Given the description of an element on the screen output the (x, y) to click on. 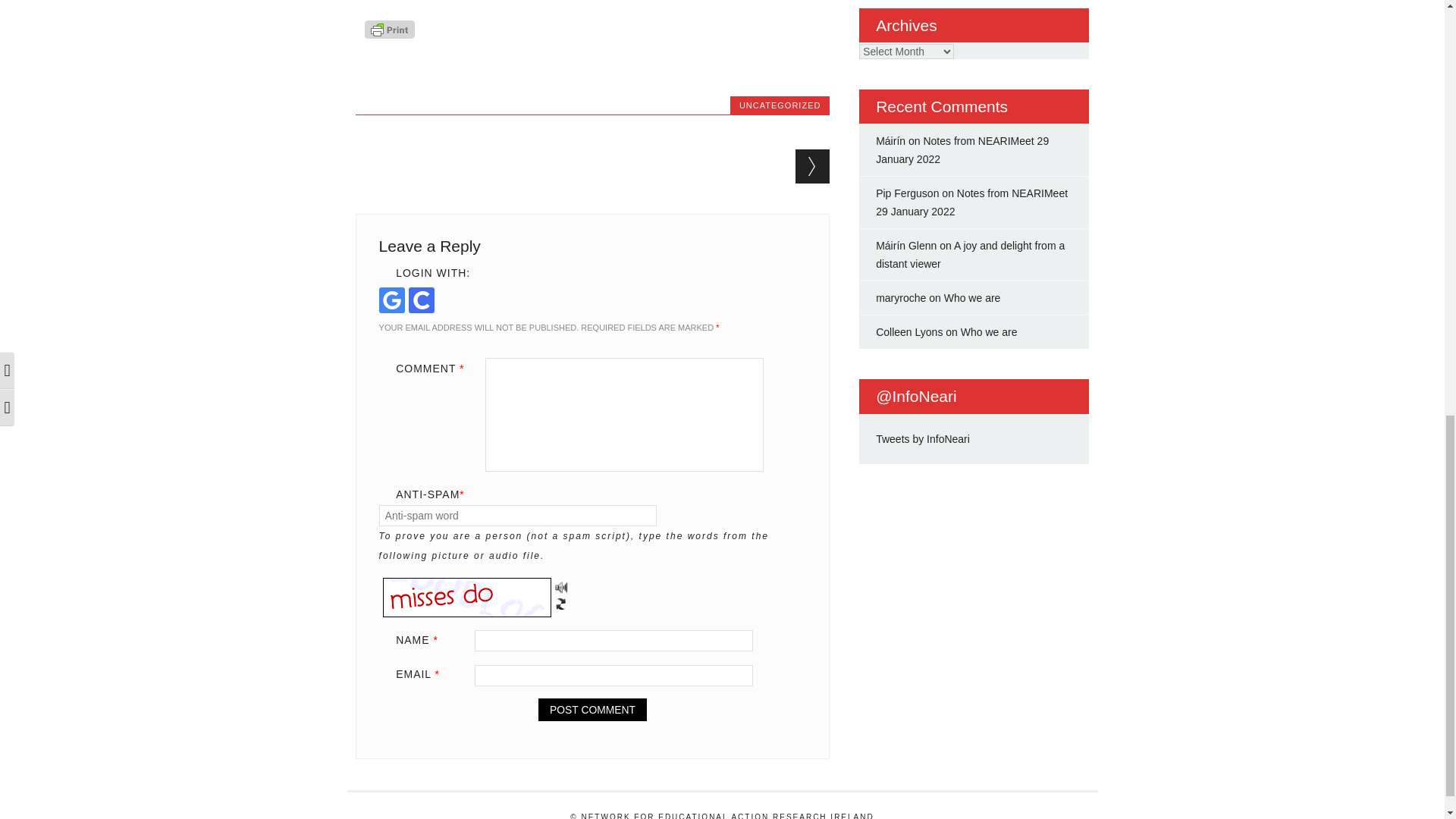
Continue with Clever (421, 299)
Continue with Google (391, 299)
Post Comment (592, 709)
